Given the description of an element on the screen output the (x, y) to click on. 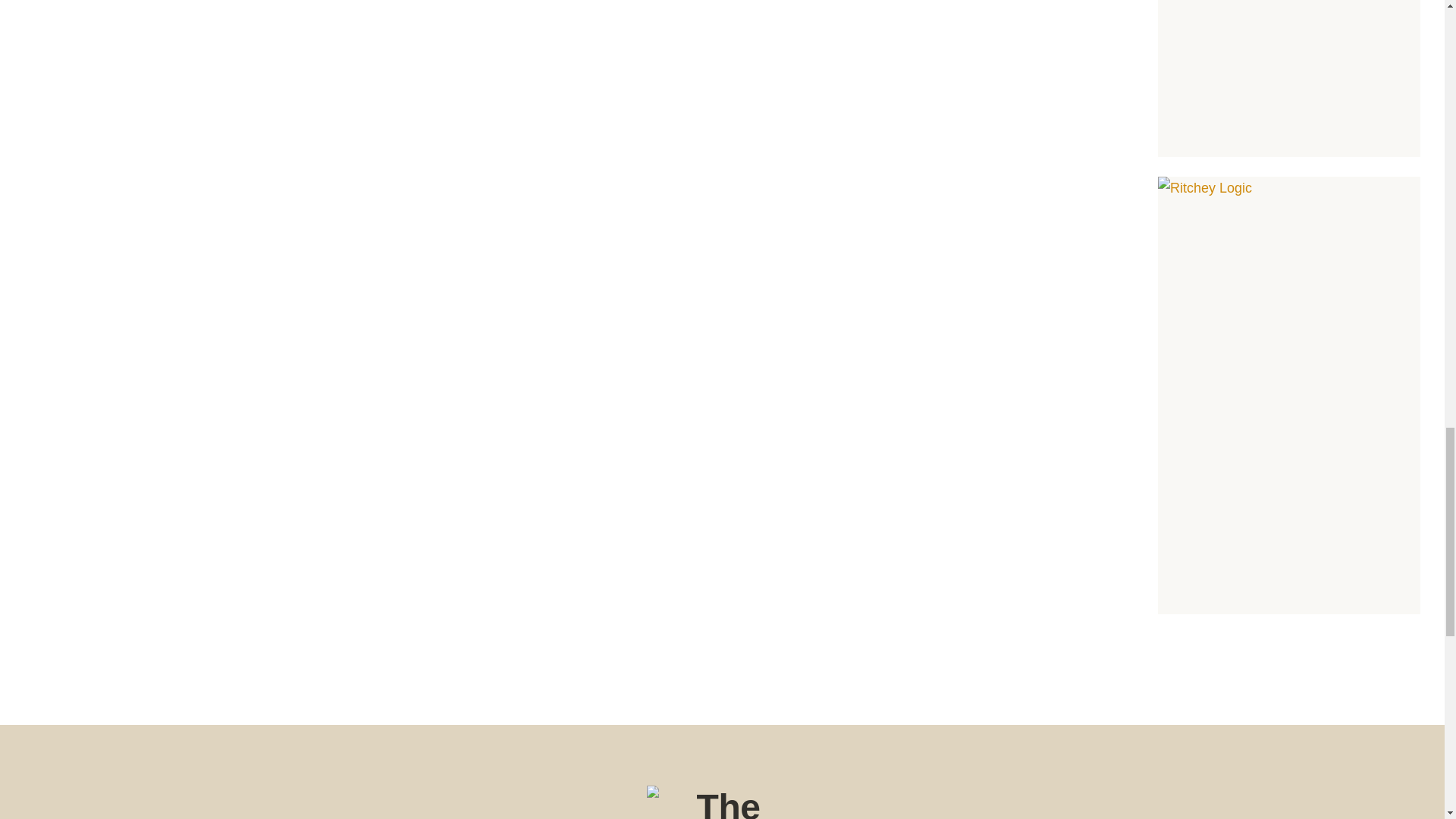
Industry Nine (1289, 78)
